Given the description of an element on the screen output the (x, y) to click on. 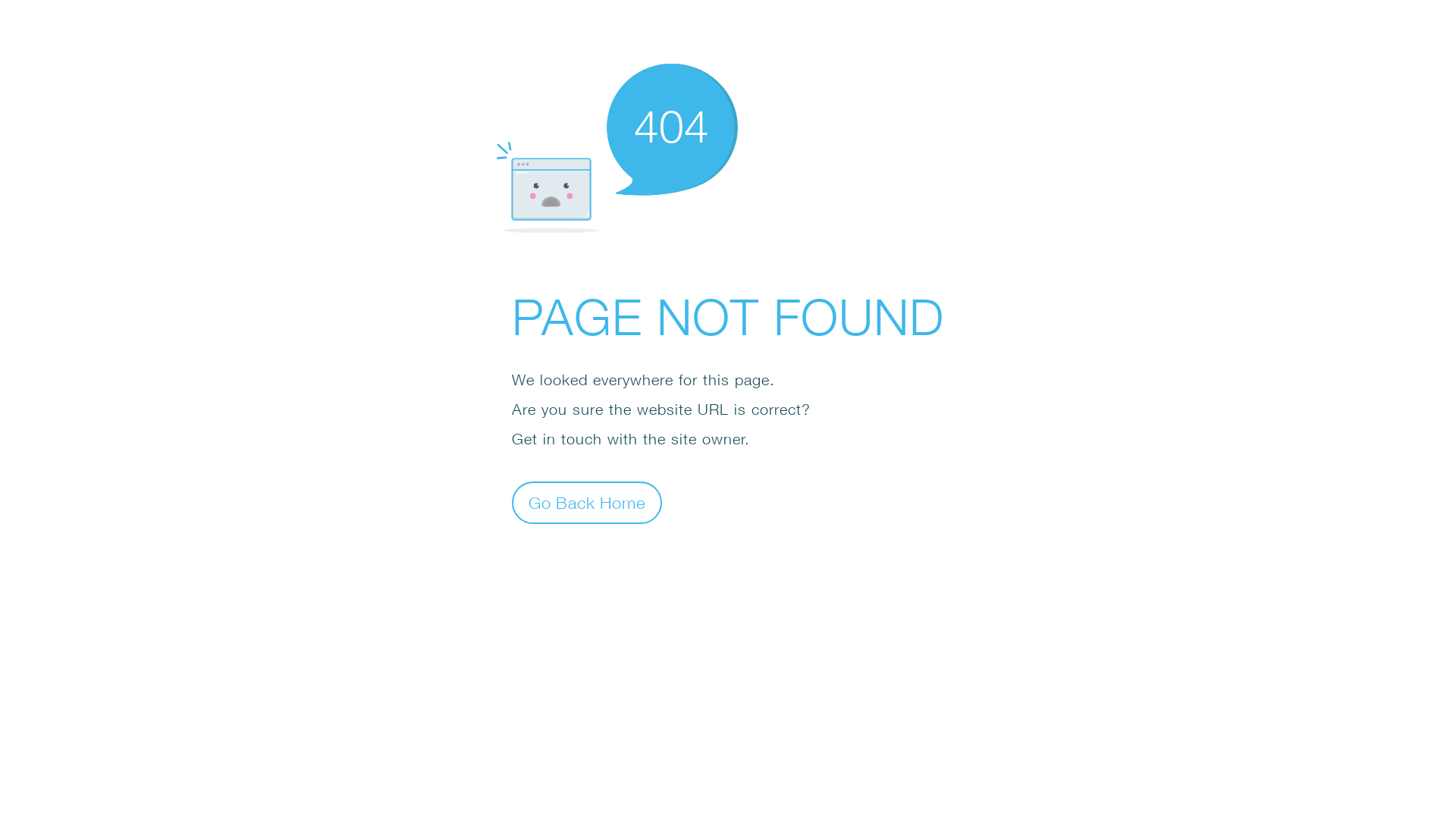
Go Back Home Element type: text (586, 502)
